Given the description of an element on the screen output the (x, y) to click on. 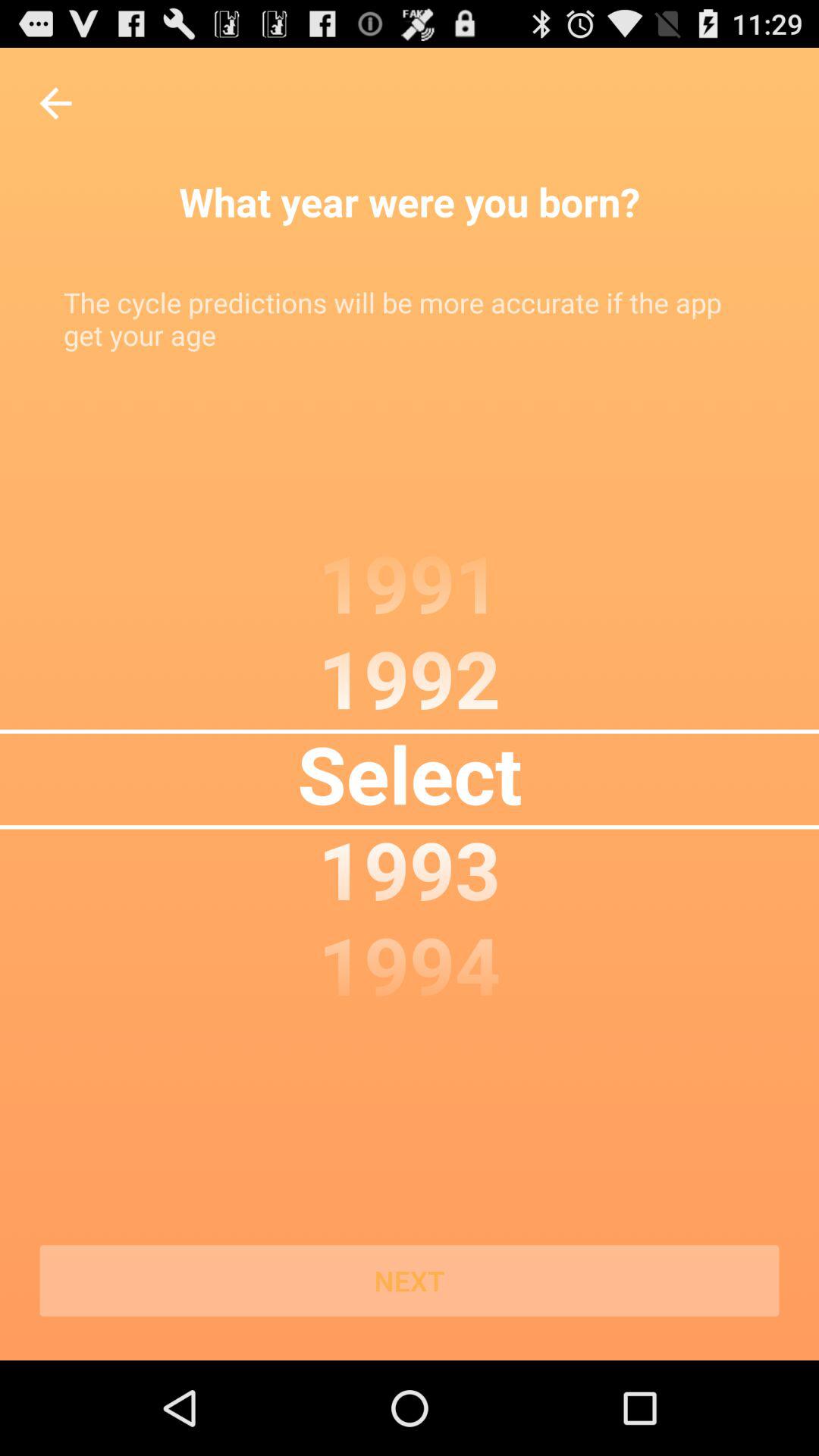
jump to next (409, 1280)
